Given the description of an element on the screen output the (x, y) to click on. 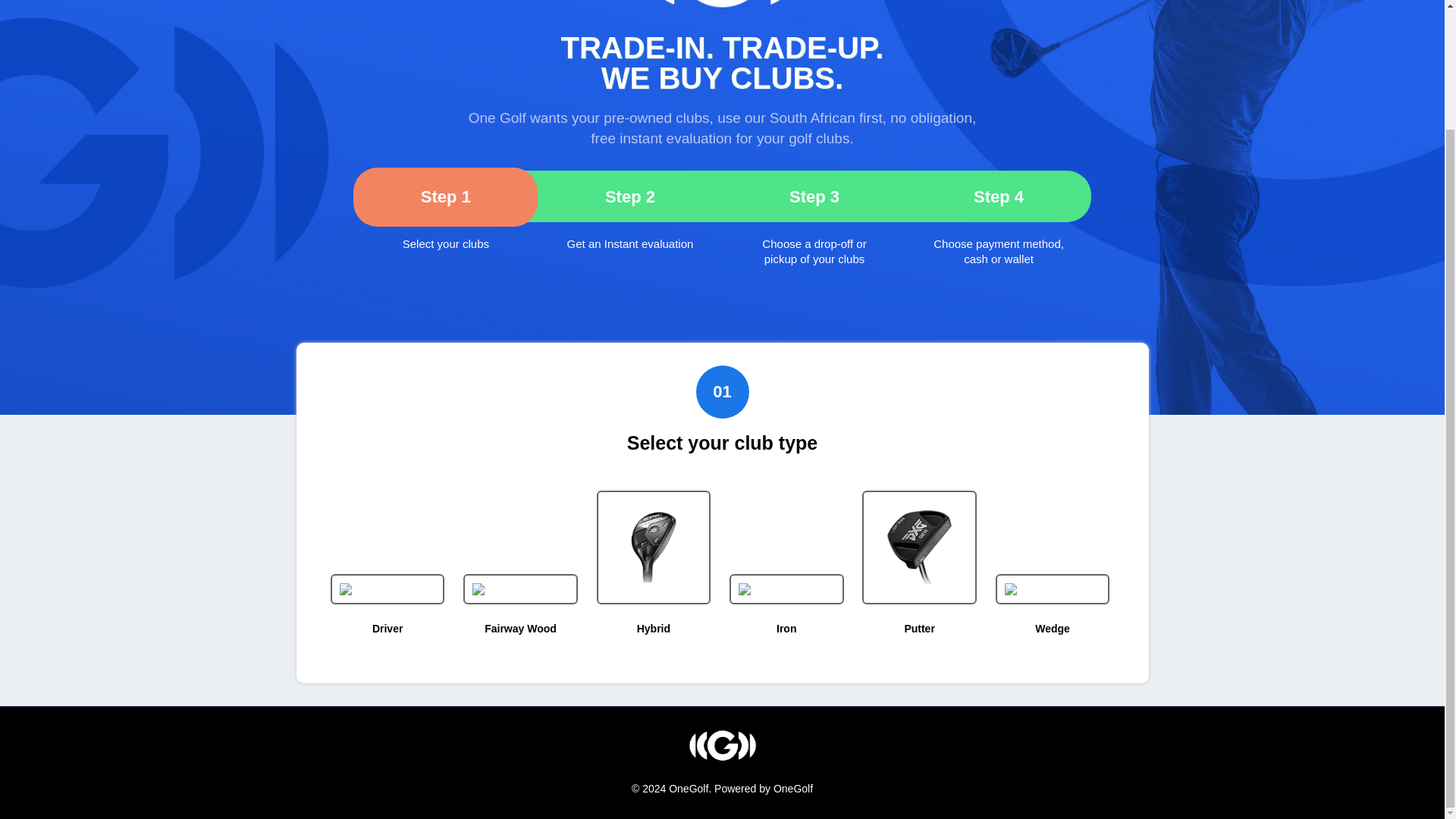
Driver (387, 628)
Putter (919, 628)
Hybrid (653, 628)
Wedge (1052, 628)
Fairway Wood (520, 628)
Iron (786, 628)
